Given the description of an element on the screen output the (x, y) to click on. 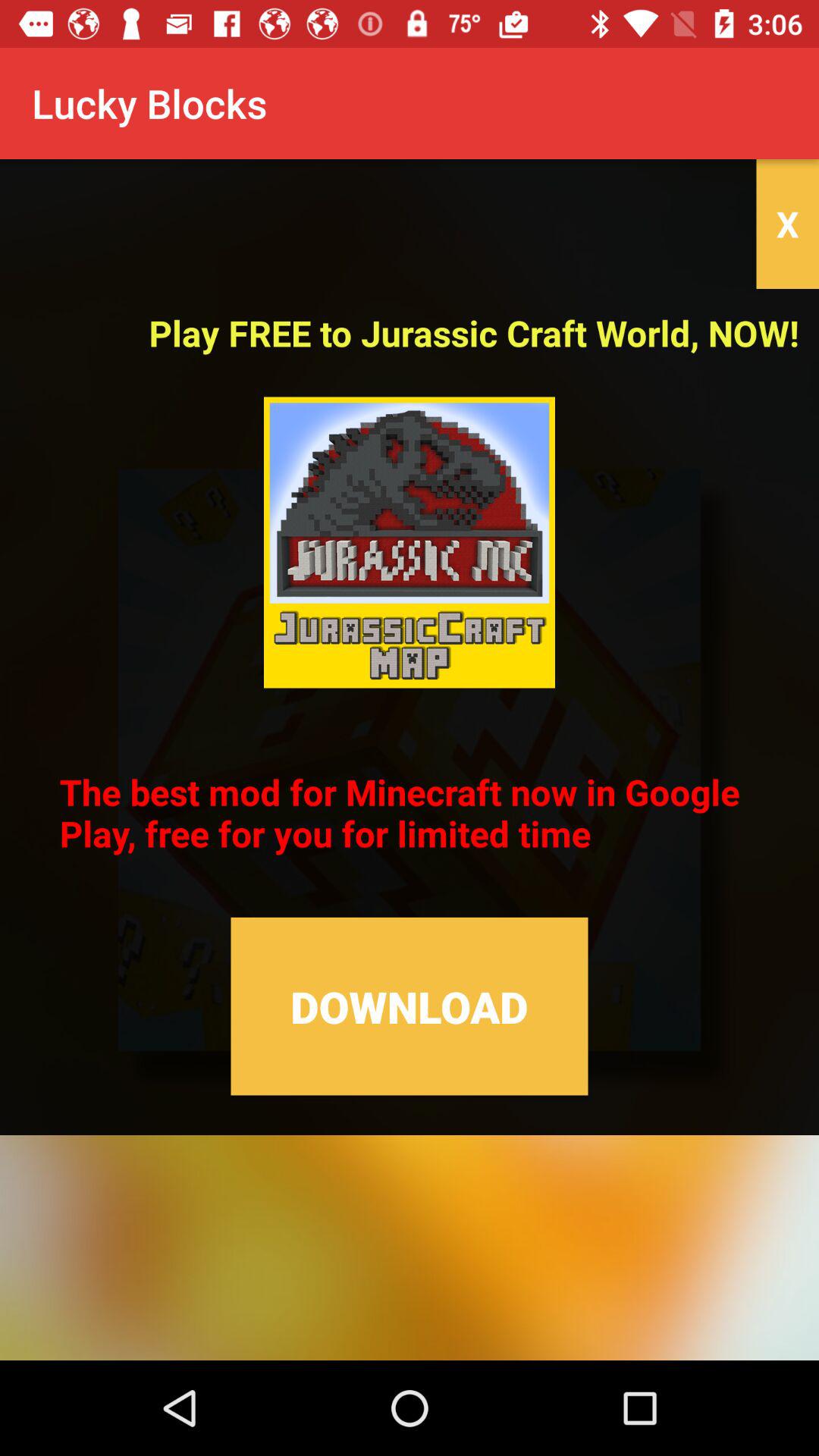
select the x at the top right corner (787, 223)
